Given the description of an element on the screen output the (x, y) to click on. 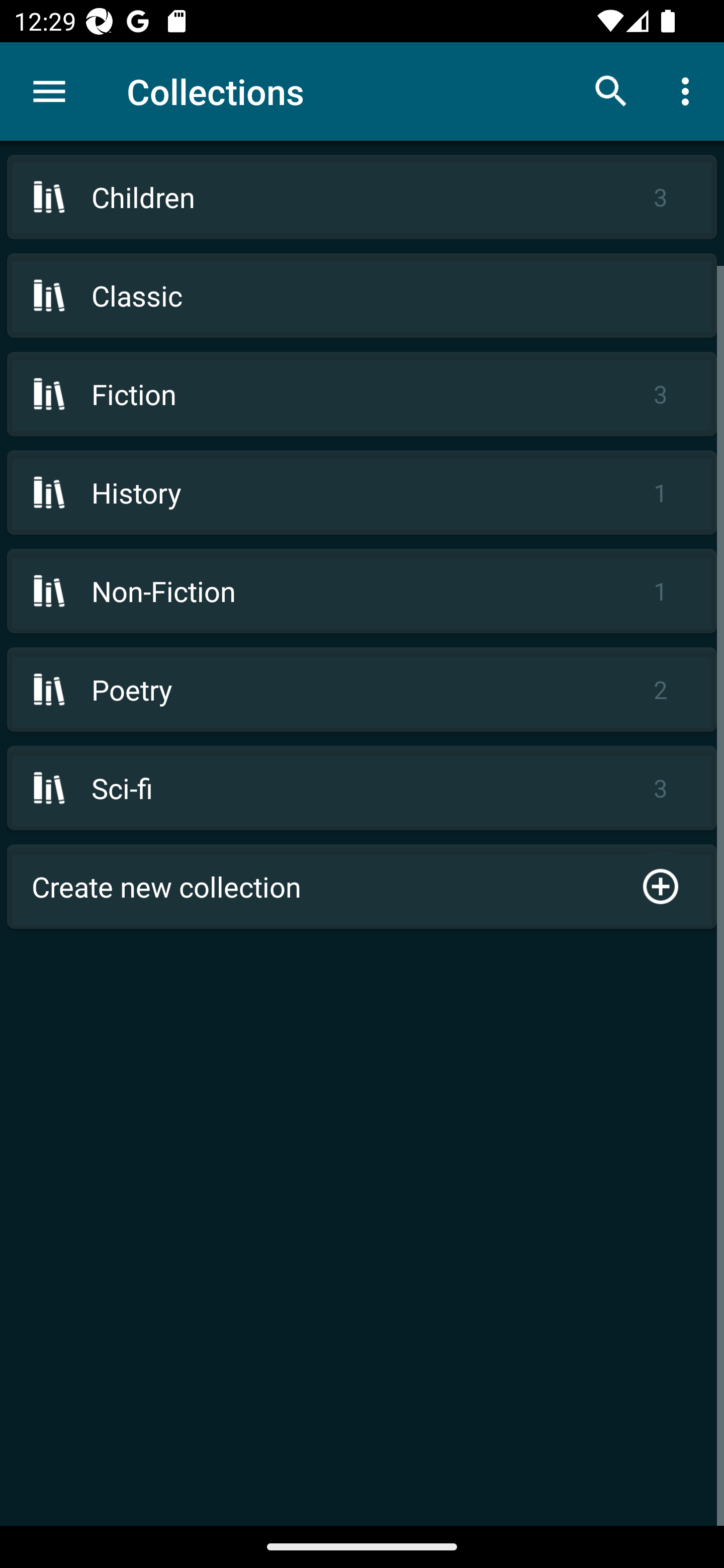
Menu (49, 91)
Search books & documents (611, 90)
More options (688, 90)
Children 3 (361, 197)
Classic (361, 295)
Fiction 3 (361, 393)
History 1 (361, 492)
Non-Fiction 1 (361, 590)
Poetry 2 (361, 689)
Sci-fi 3 (361, 787)
Create new collection (361, 885)
